Given the description of an element on the screen output the (x, y) to click on. 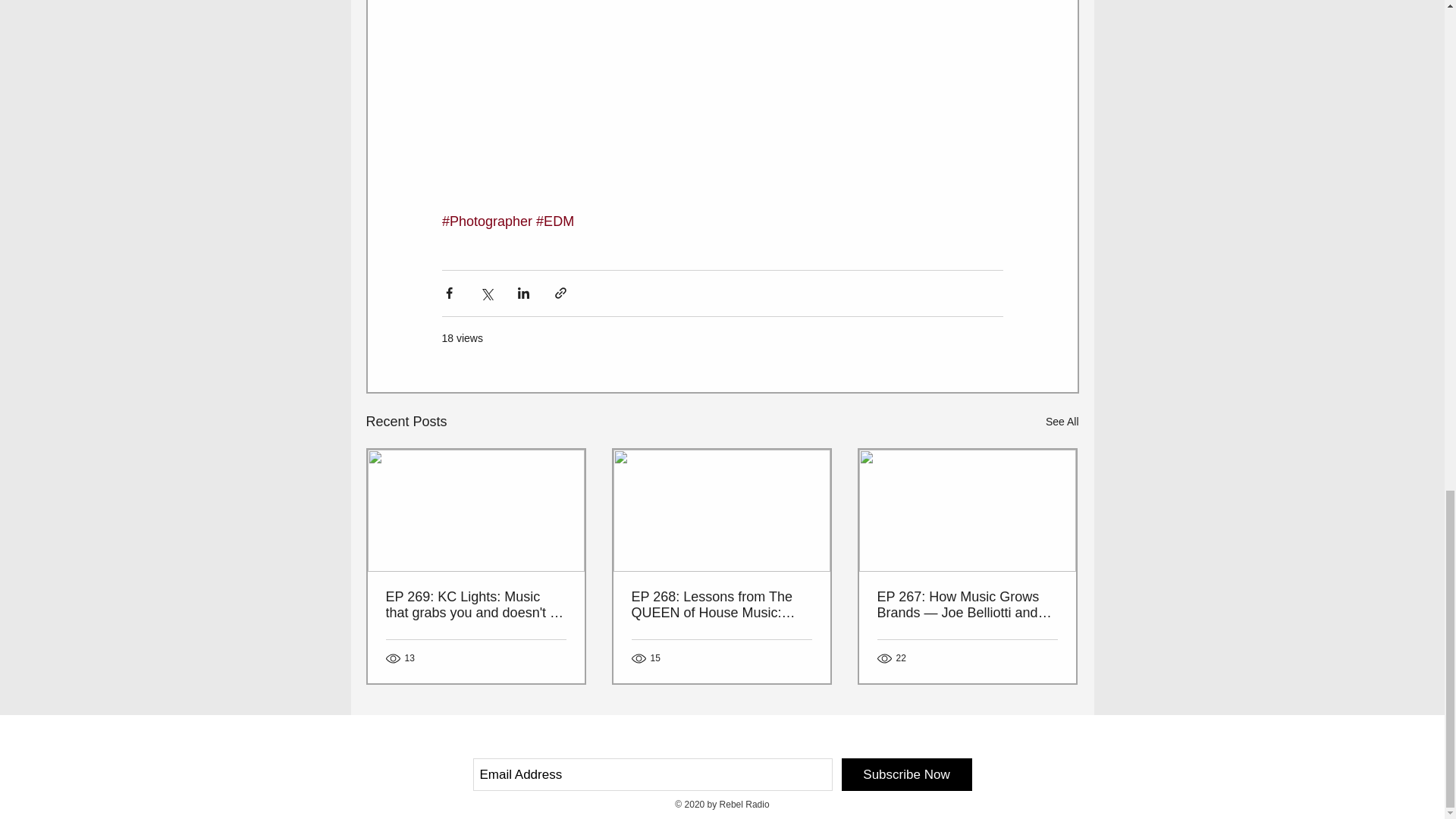
Subscribe Now (906, 774)
EP 269: KC Lights: Music that grabs you and doesn't let go (475, 604)
See All (1061, 422)
